Given the description of an element on the screen output the (x, y) to click on. 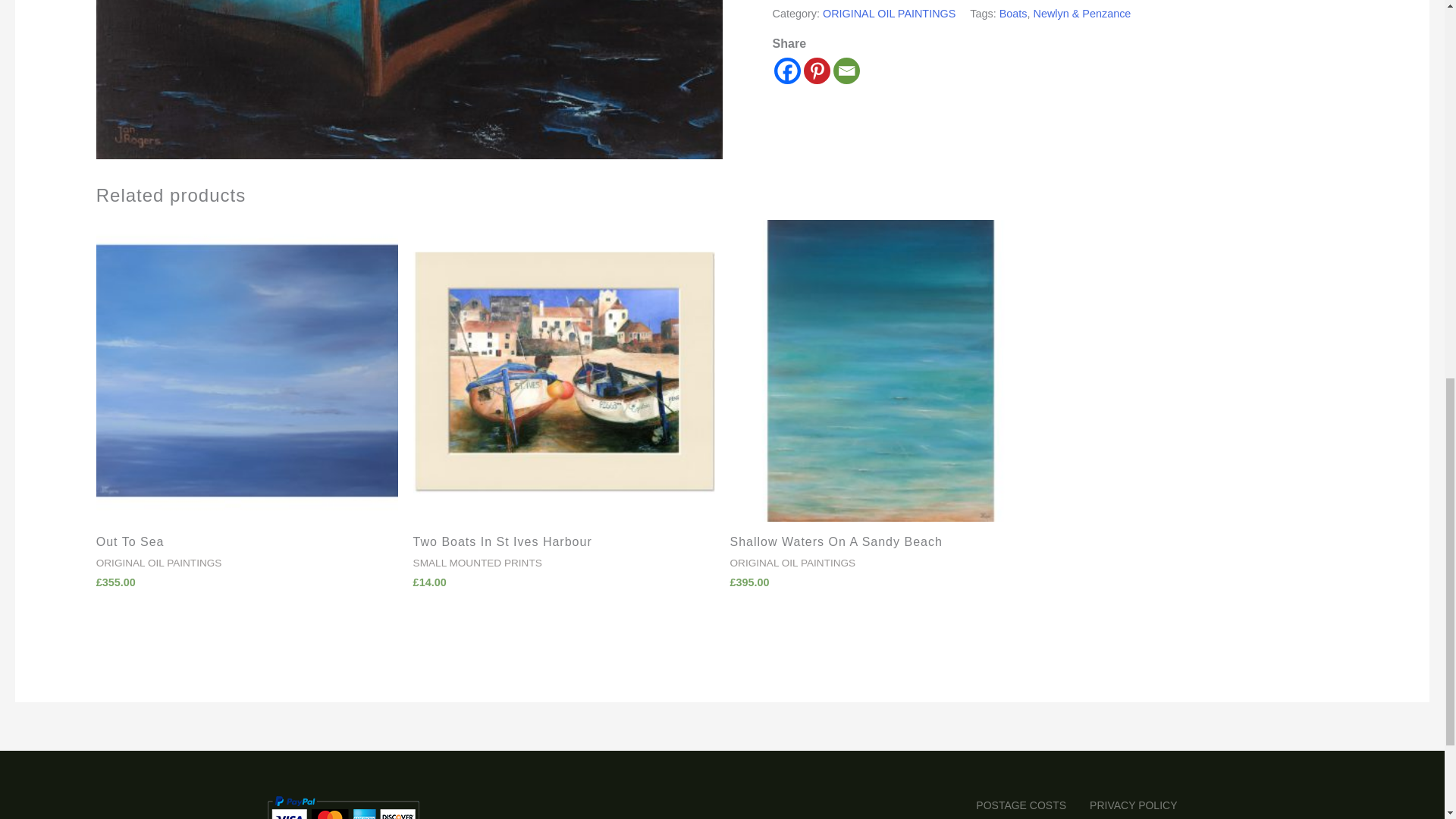
Original oil painting by Jan Rogers. (409, 79)
Facebook (787, 70)
Boats (1012, 13)
Shallow Waters On A Sandy Beach (879, 545)
Two Boats In St Ives Harbour (563, 545)
ORIGINAL OIL PAINTINGS (888, 13)
Pinterest (816, 70)
Email (846, 70)
Out To Sea (246, 545)
